Given the description of an element on the screen output the (x, y) to click on. 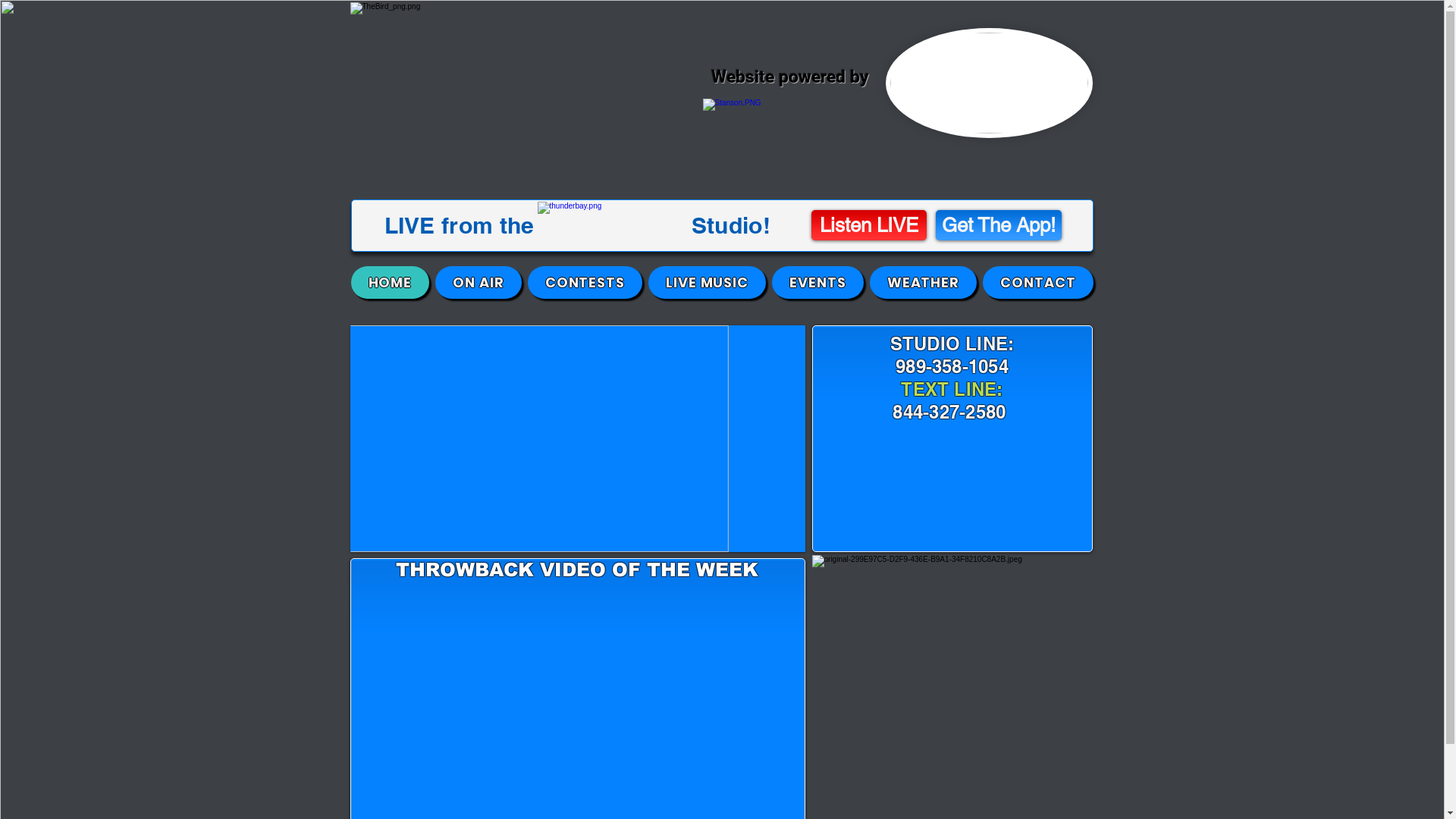
CONTACT Element type: text (1037, 282)
Listen LIVE Element type: text (868, 225)
LIVE MUSIC Element type: text (706, 282)
WEATHER Element type: text (922, 282)
EVENTS Element type: text (817, 282)
Get The App! Element type: text (998, 225)
HOME Element type: text (389, 282)
ON AIR Element type: text (478, 282)
CONTESTS Element type: text (584, 282)
Stan.jpg Element type: hover (988, 83)
